Given the description of an element on the screen output the (x, y) to click on. 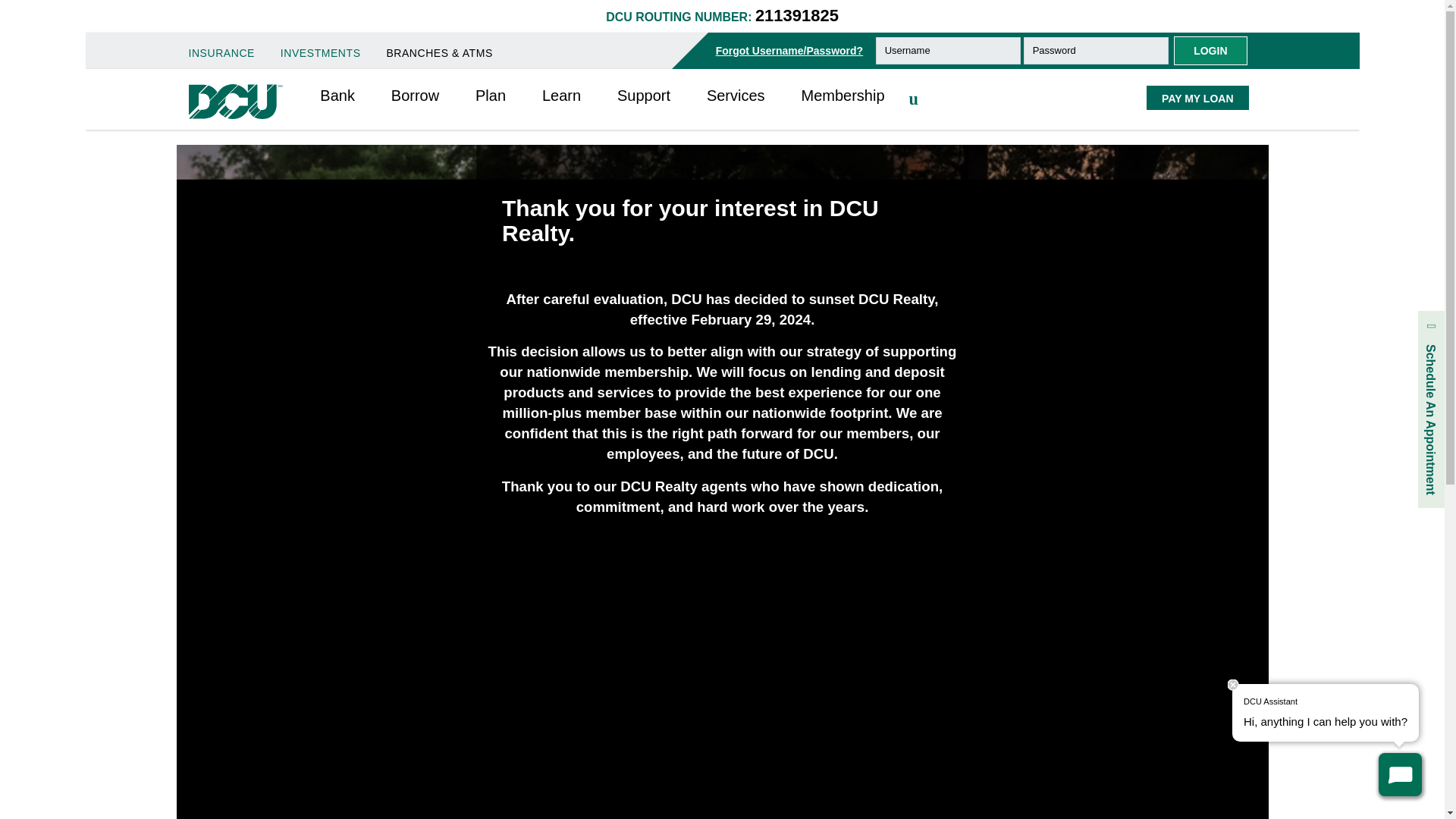
Learn (560, 95)
LOGIN (1209, 50)
Plan (490, 95)
INSURANCE (220, 53)
Bank (337, 95)
Digital Federal Credit Union logo (234, 101)
Support (643, 95)
INVESTMENTS (321, 53)
Membership (841, 95)
Services (735, 95)
chat icon (1399, 774)
PAY MY LOAN (1197, 97)
Borrow (415, 95)
